Given the description of an element on the screen output the (x, y) to click on. 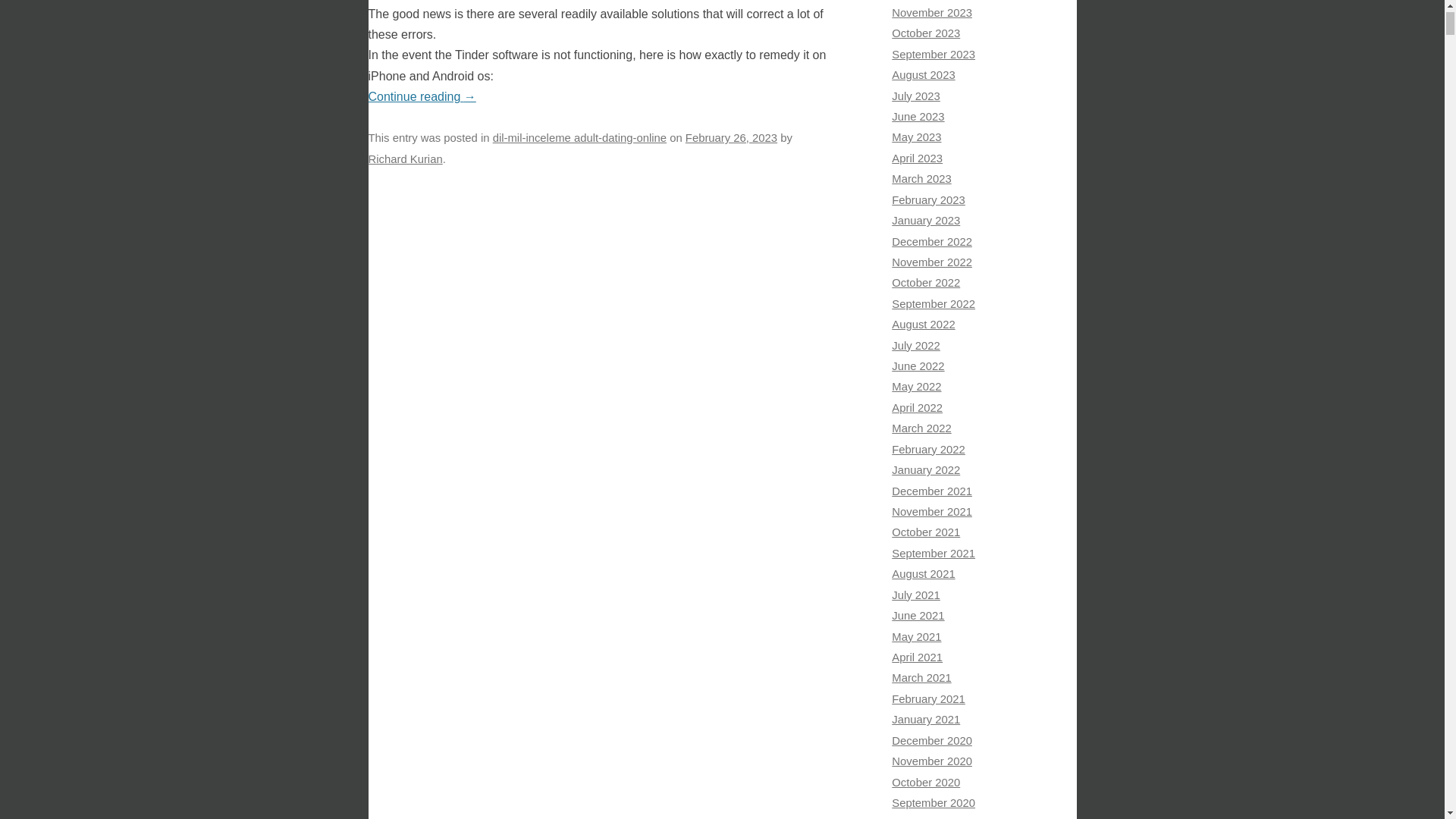
September 2023 (933, 54)
March 2023 (920, 178)
February 2023 (928, 200)
May 2023 (915, 137)
June 2023 (917, 116)
April 2023 (916, 158)
February 26, 2023 (731, 137)
View all posts by Richard Kurian (405, 159)
August 2023 (923, 74)
dil-mil-inceleme adult-dating-online (579, 137)
Richard Kurian (405, 159)
November 2023 (931, 12)
October 2023 (925, 33)
3:48 am (731, 137)
July 2023 (915, 96)
